Given the description of an element on the screen output the (x, y) to click on. 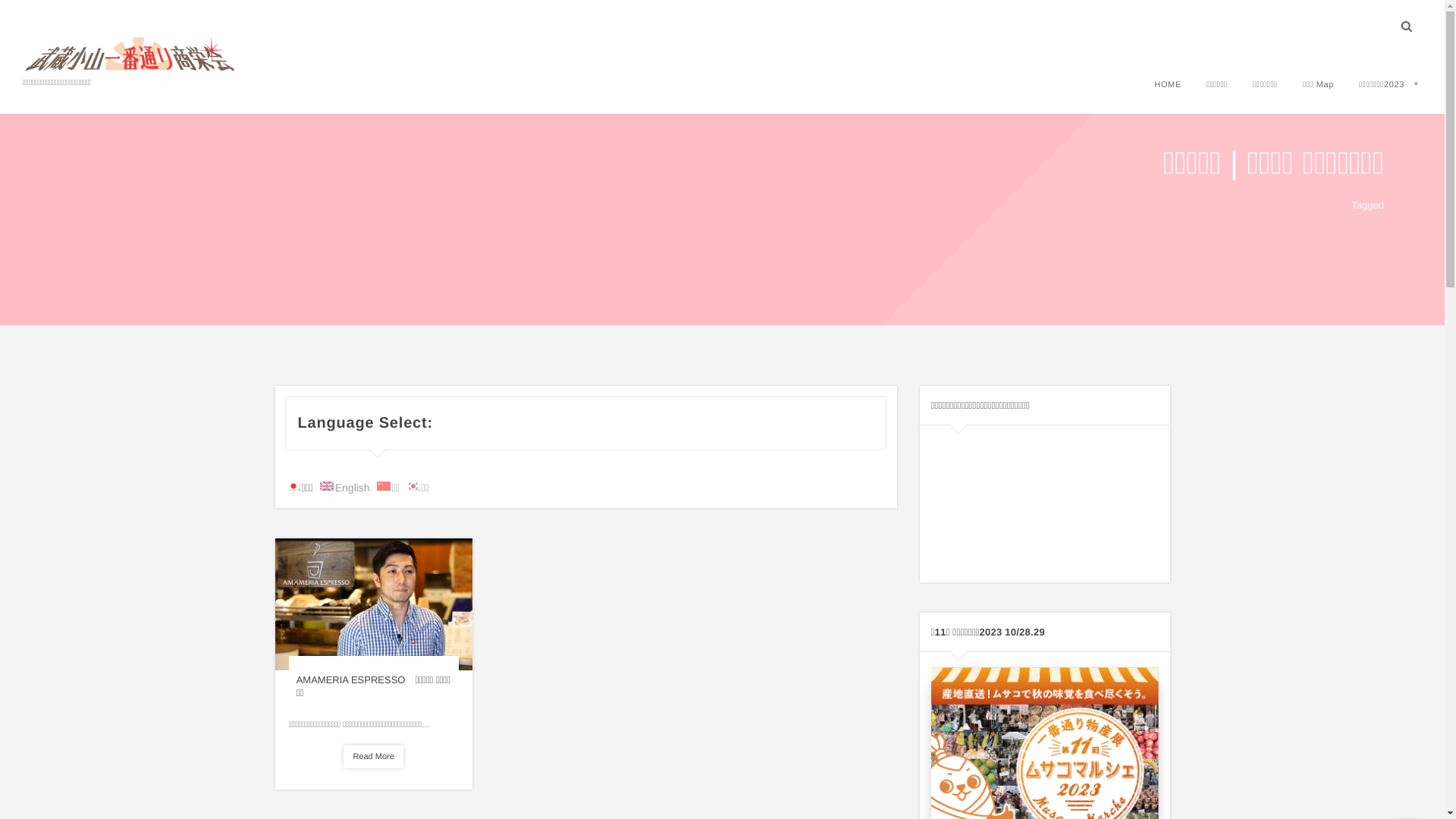
HOME Element type: text (1167, 84)
Read More Element type: text (372, 756)
English Element type: text (345, 487)
